Given the description of an element on the screen output the (x, y) to click on. 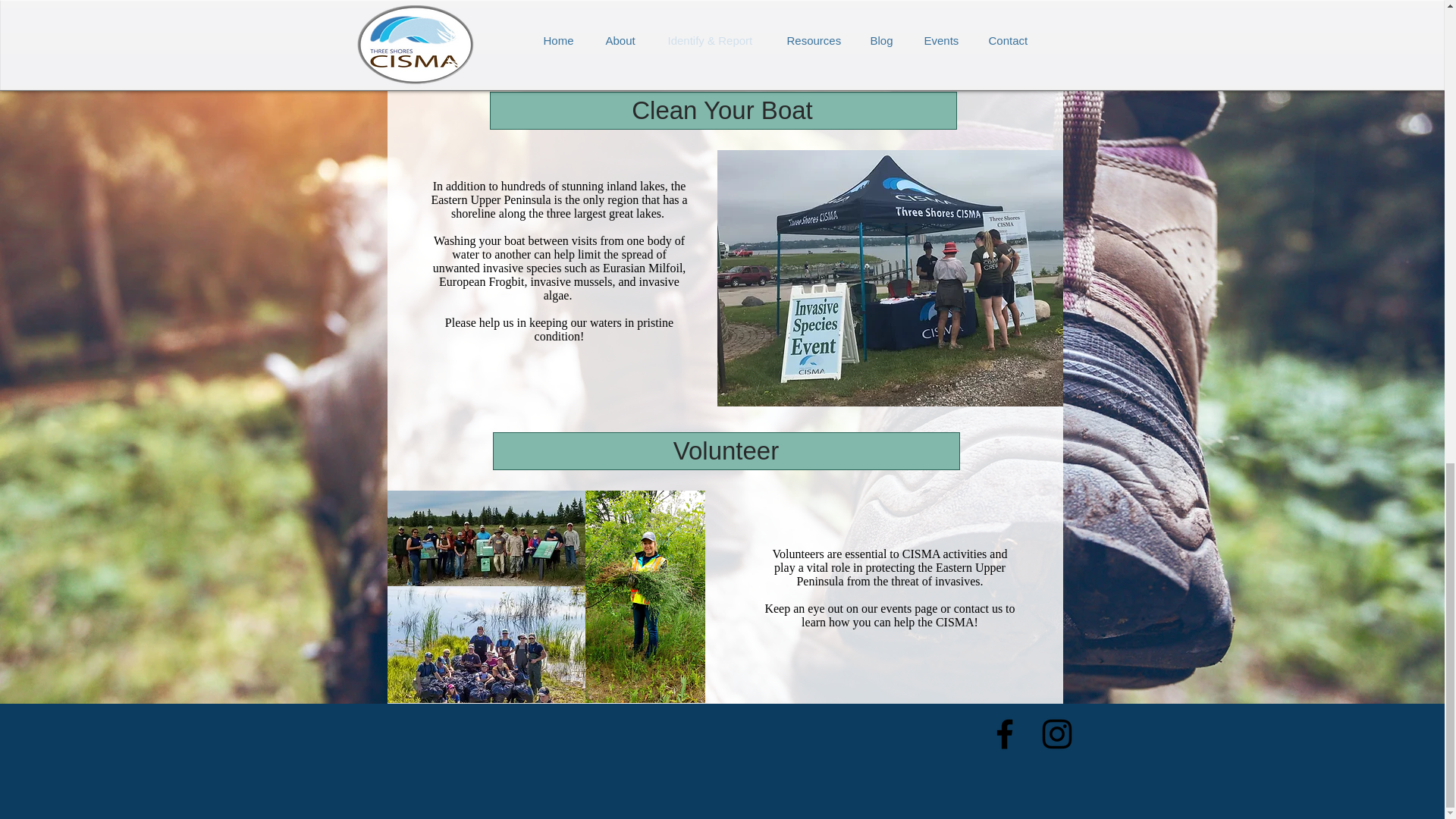
dsaf.jpg (486, 538)
